Given the description of an element on the screen output the (x, y) to click on. 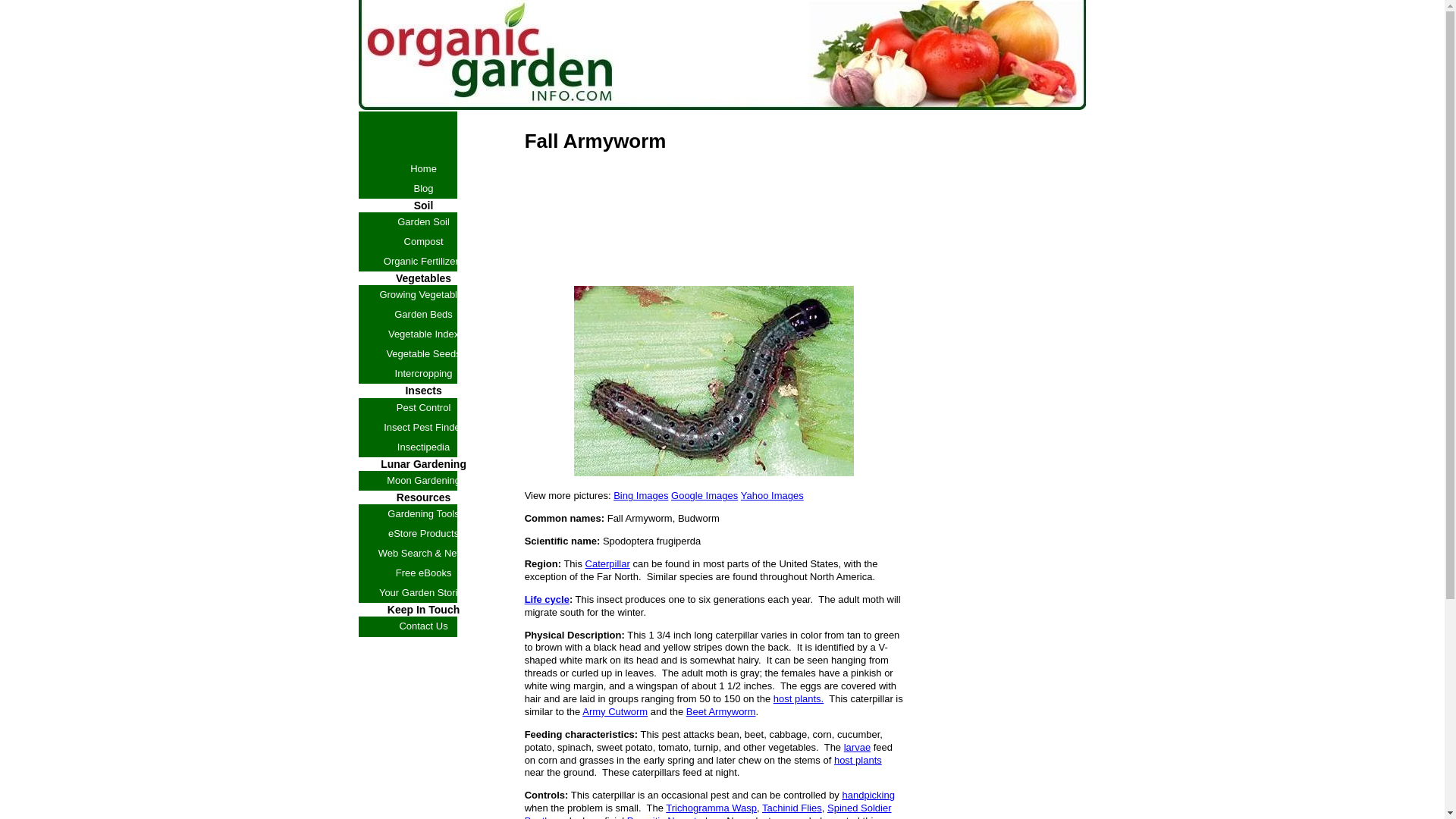
Intercropping (423, 373)
Life cycle (546, 599)
Parasitic Nematodes (672, 816)
Yahoo Images (772, 495)
Growing Vegetables (423, 294)
Caterpillar (607, 563)
Your Garden Stories (423, 592)
Contact Us (423, 626)
Home (422, 168)
Organic Fertilizers (423, 261)
Vegetable Index (423, 333)
Advertisement (701, 249)
Vegetable Seeds (423, 353)
handpicking (867, 794)
Fall Armyworm (713, 380)
